Given the description of an element on the screen output the (x, y) to click on. 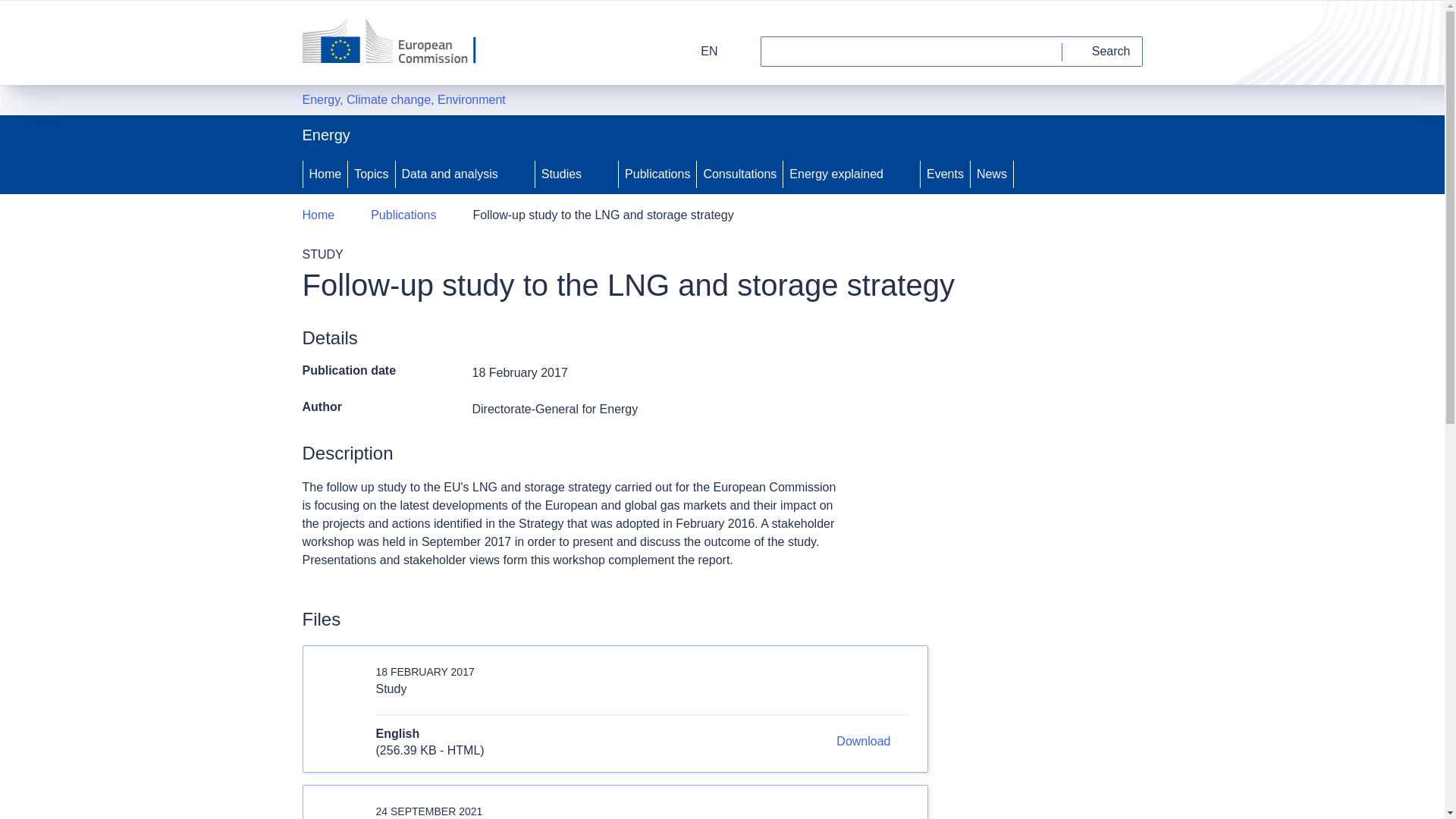
Studies (560, 174)
Consultations (740, 174)
Topics (370, 174)
Data and analysis (448, 174)
News (992, 174)
Search (1102, 51)
Events (944, 174)
Energy, Climate change, Environment (403, 99)
Energy explained (834, 174)
